Given the description of an element on the screen output the (x, y) to click on. 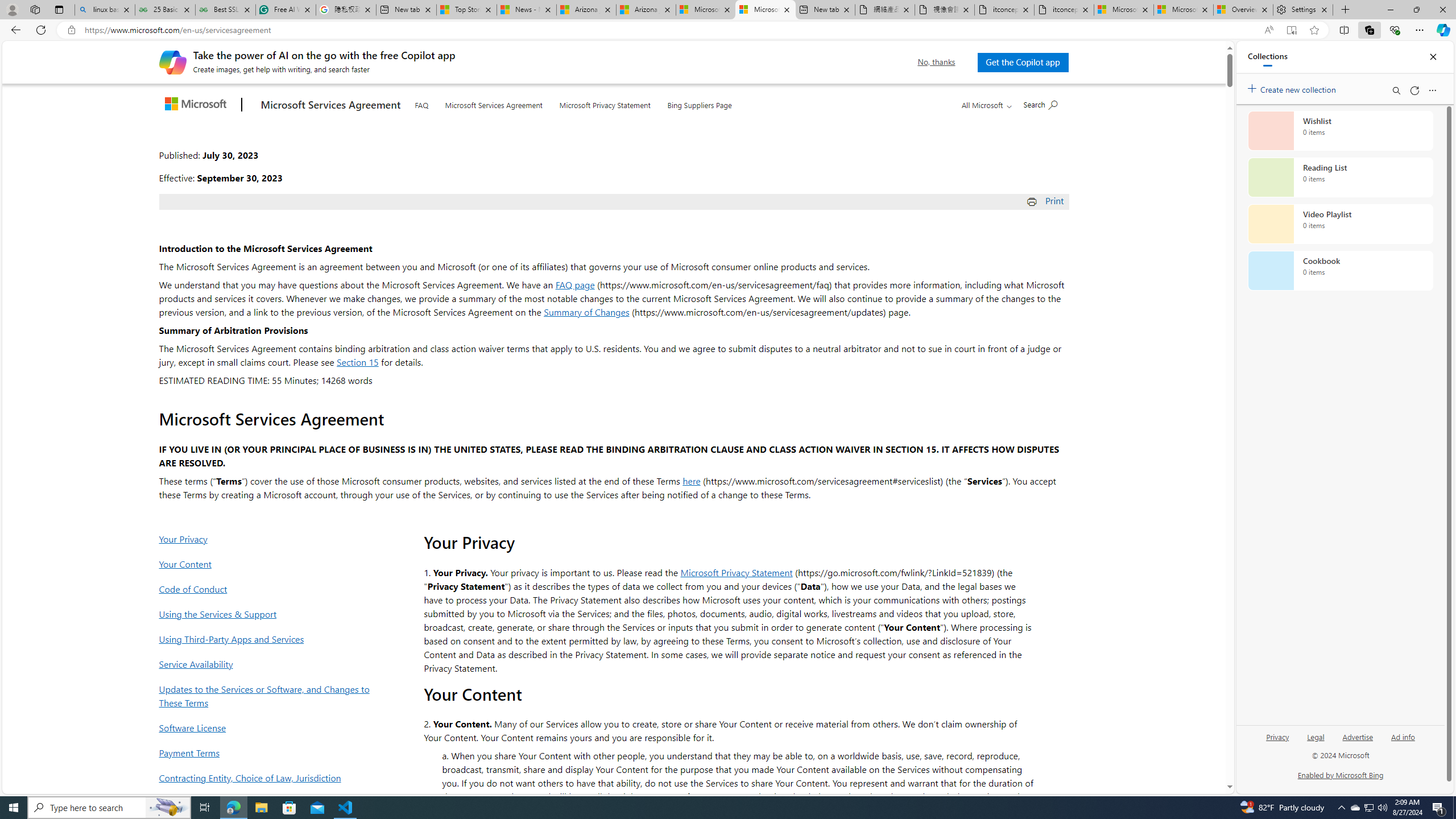
25 Basic Linux Commands For Beginners - GeeksforGeeks (164, 9)
Your Content (267, 563)
Get the Copilot app  (1022, 62)
